Given the description of an element on the screen output the (x, y) to click on. 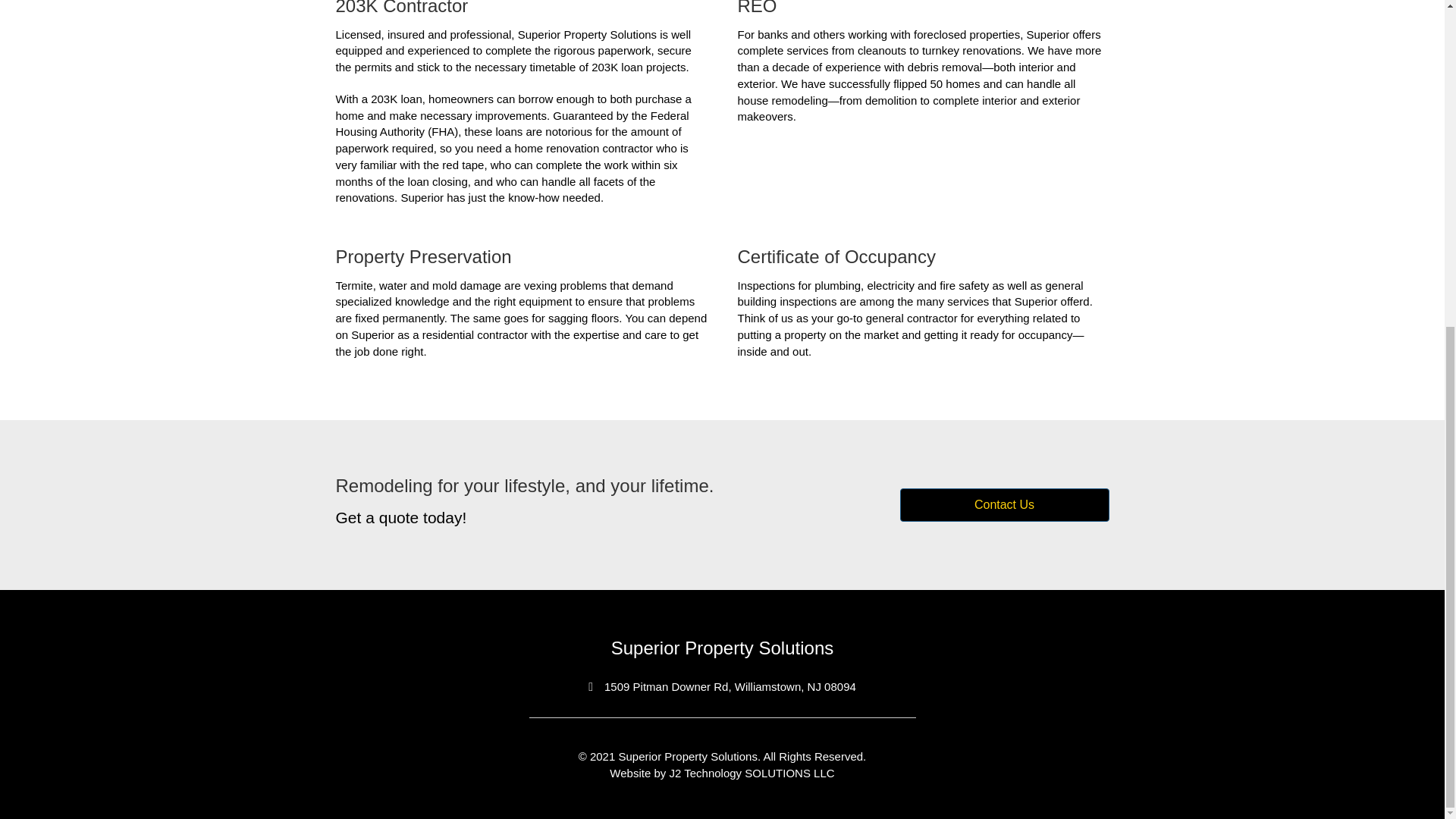
Contact Us (1003, 504)
J2 Technology SOLUTIONS LLC (751, 772)
1509 Pitman Downer Rd, Williamstown, NJ 08094 (730, 686)
